Given the description of an element on the screen output the (x, y) to click on. 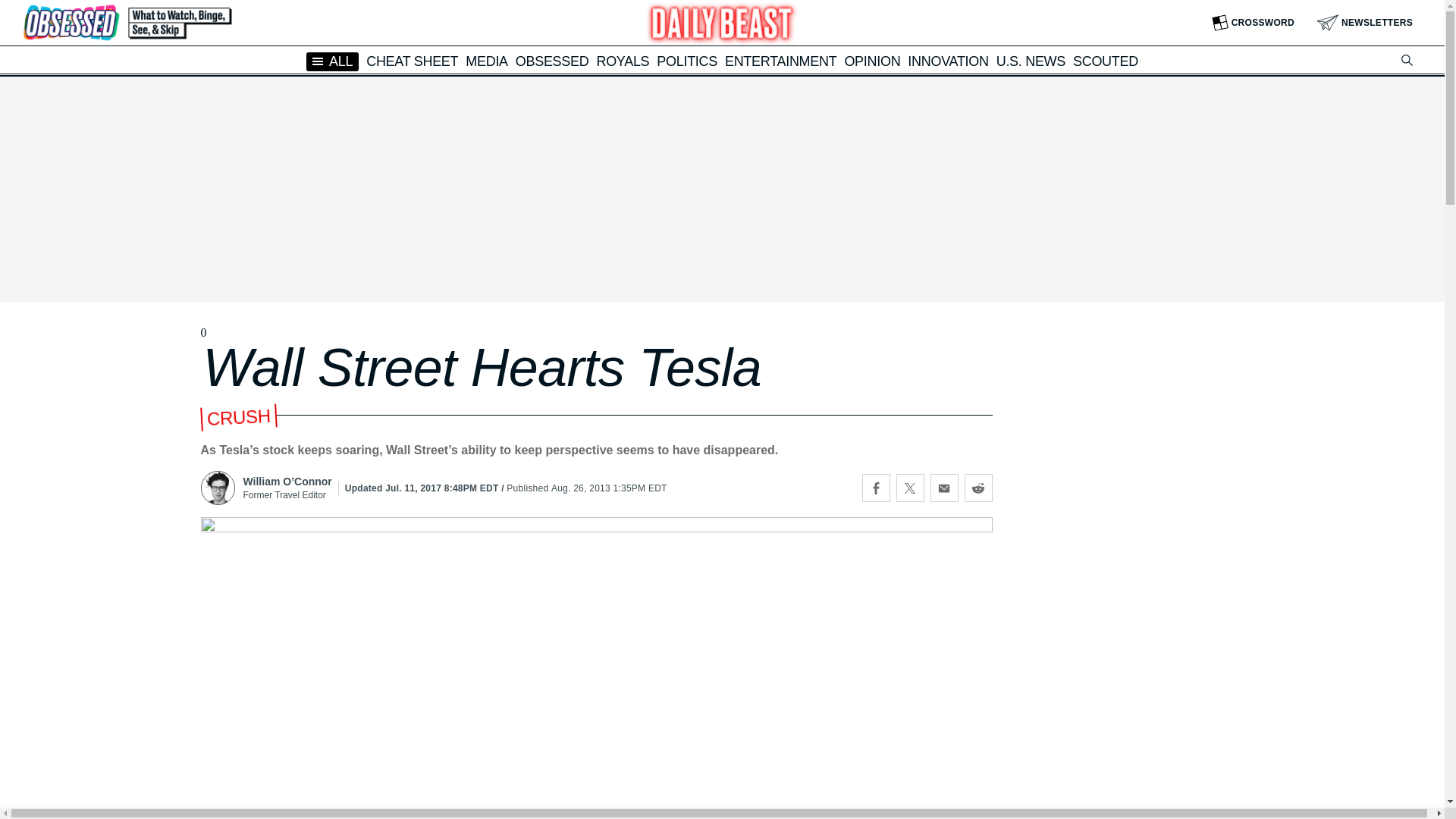
ALL (331, 60)
U.S. NEWS (1030, 60)
SCOUTED (1105, 60)
ENTERTAINMENT (780, 60)
POLITICS (686, 60)
NEWSLETTERS (1364, 22)
CROSSWORD (1252, 22)
INNOVATION (947, 60)
OPINION (871, 60)
MEDIA (486, 60)
CHEAT SHEET (412, 60)
ROYALS (622, 60)
OBSESSED (552, 60)
